Given the description of an element on the screen output the (x, y) to click on. 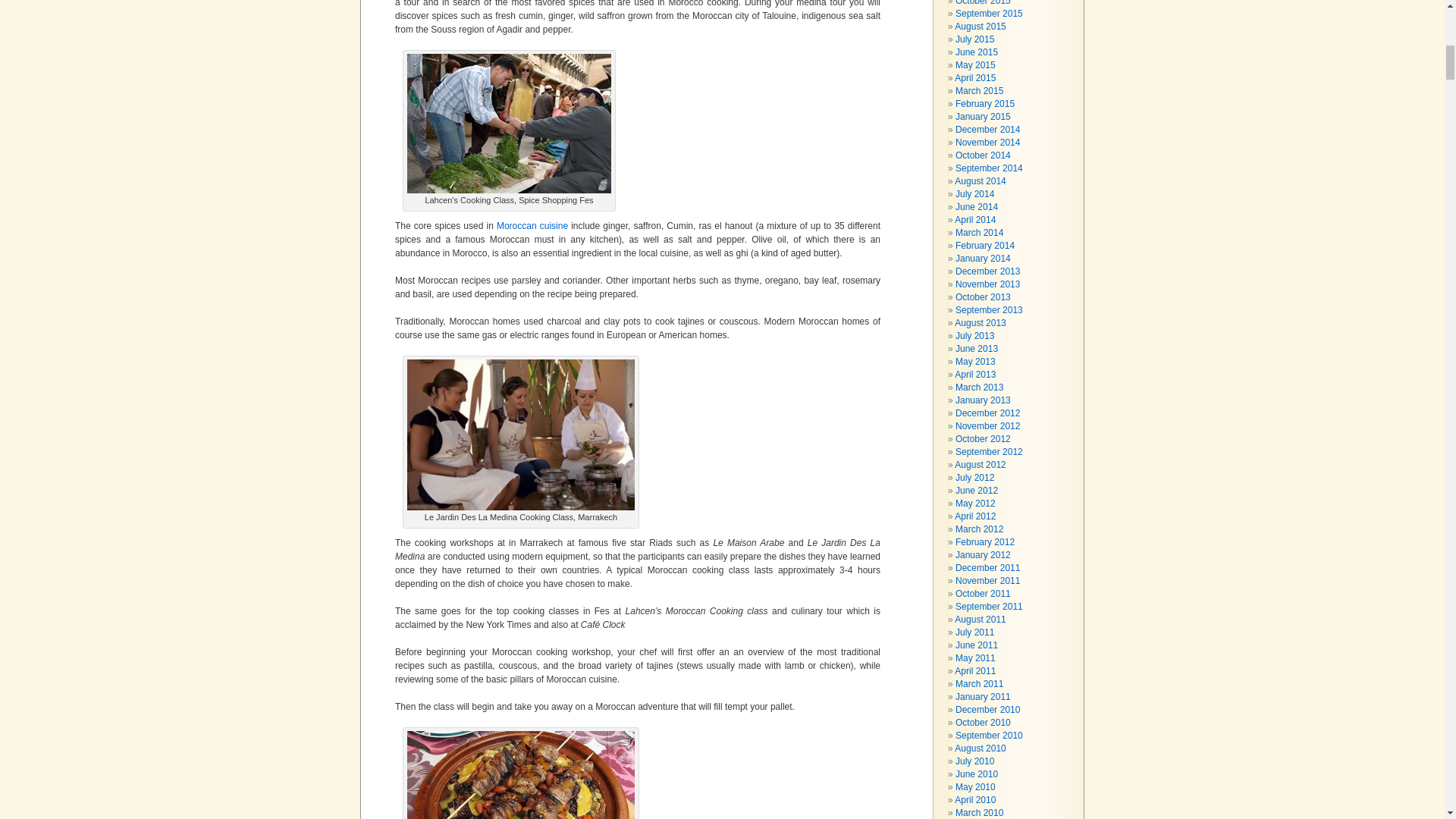
Tajine-Le-Maison-Arabe-Cooking-Class (520, 775)
Lahcen-Cooking-Class-Fes (509, 123)
Moroccan cuisine (533, 225)
Le-Jardin-Des-La-Medina-Cooking-Class (520, 434)
